Given the description of an element on the screen output the (x, y) to click on. 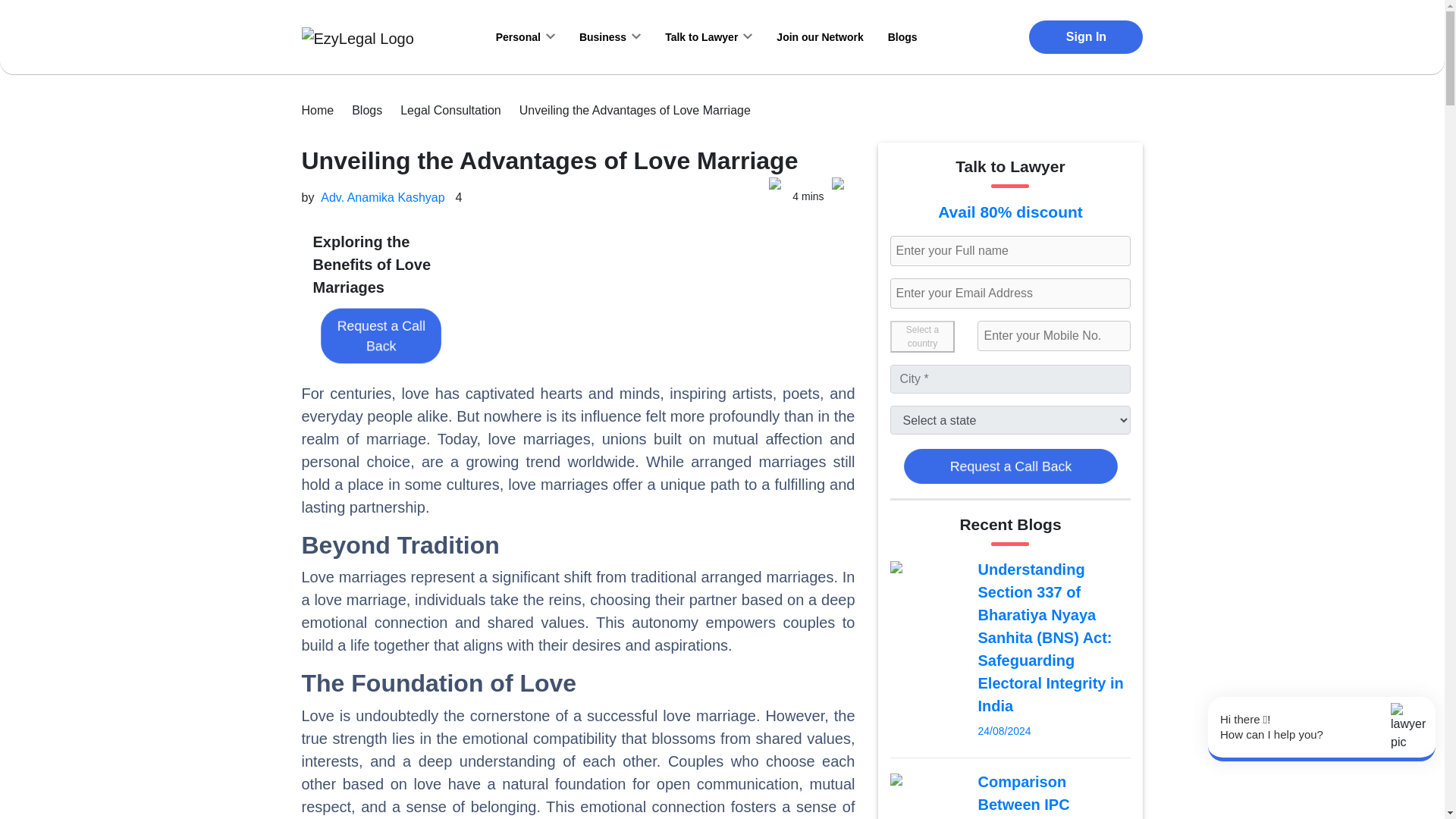
Join our Network (819, 36)
Home (317, 110)
Talk to Lawyer (708, 35)
Blogs (366, 110)
Request a Call Back (395, 342)
Business (609, 35)
Sign In (1085, 37)
Adv. Anamika Kashyap (382, 204)
Legal Consultation (450, 110)
Personal (525, 35)
